Given the description of an element on the screen output the (x, y) to click on. 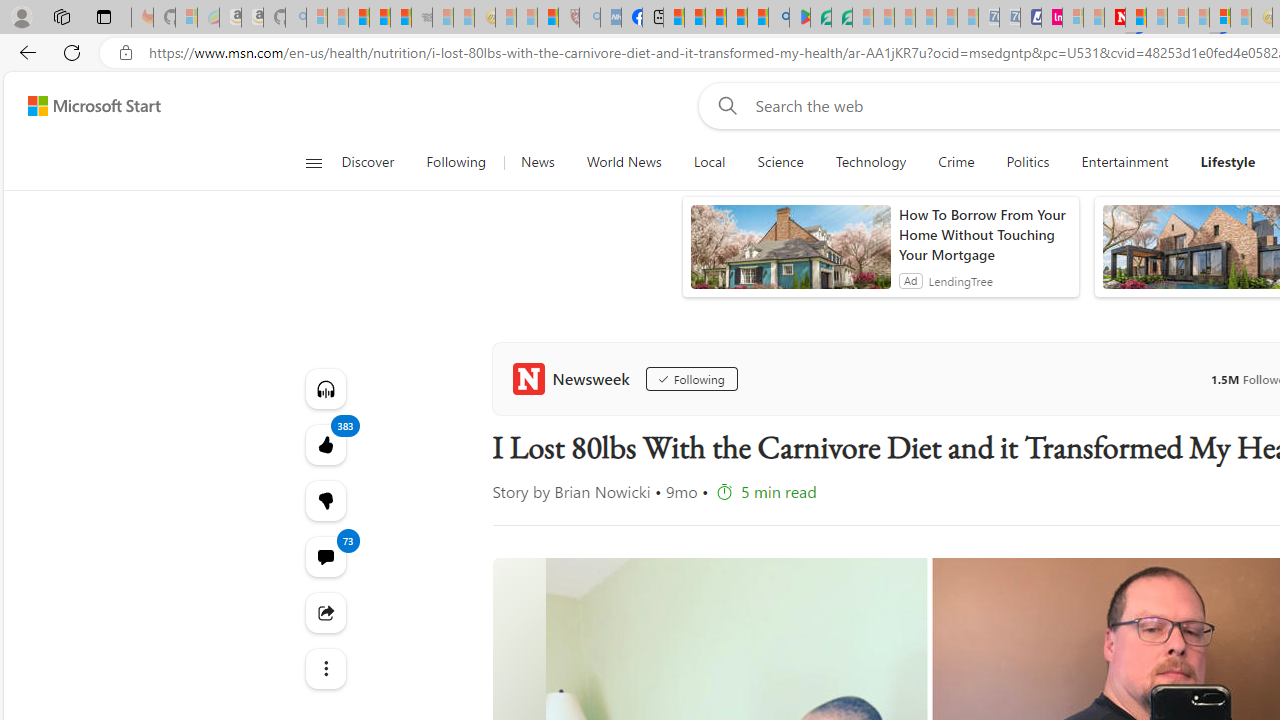
Crime (955, 162)
View comments 73 Comment (324, 556)
list of asthma inhalers uk - Search - Sleeping (589, 17)
Following (690, 378)
Science (779, 162)
MSNBC - MSN (673, 17)
Refresh (72, 52)
Jobs - lastminute.com Investor Portal (1051, 17)
World News (623, 162)
Workspaces (61, 16)
Following (457, 162)
